Given the description of an element on the screen output the (x, y) to click on. 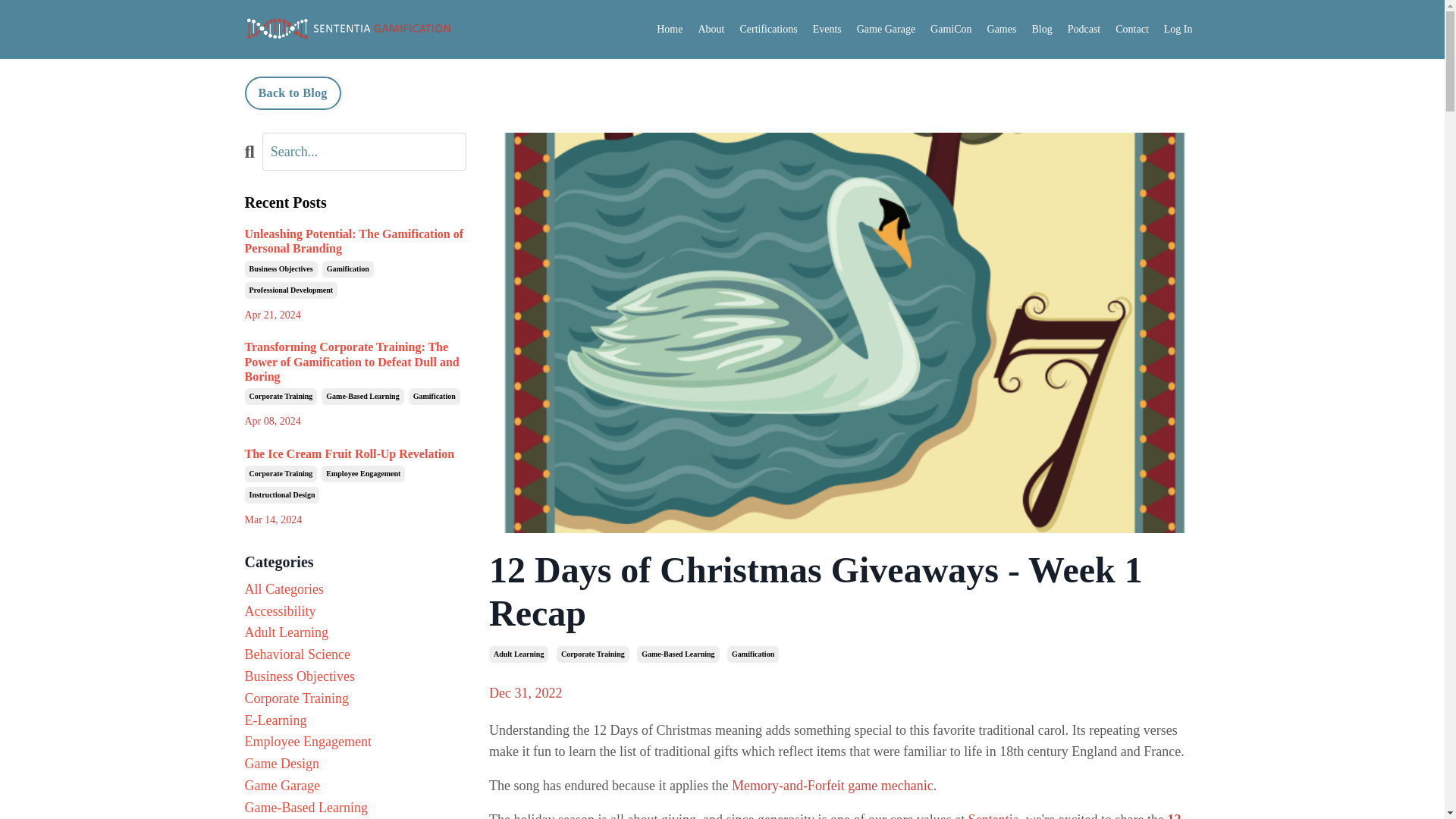
Back to Blog (292, 92)
Adult Learning (518, 654)
Log In (1177, 29)
Memory-and-Forfeit game mechanic (832, 785)
Home (669, 29)
Games (1001, 29)
GamiCon (950, 29)
Gamification (752, 654)
Events (826, 29)
Podcast (1083, 29)
Corporate Training (592, 654)
Business Objectives (280, 269)
Sententia (993, 815)
Certifications (767, 29)
